Given the description of an element on the screen output the (x, y) to click on. 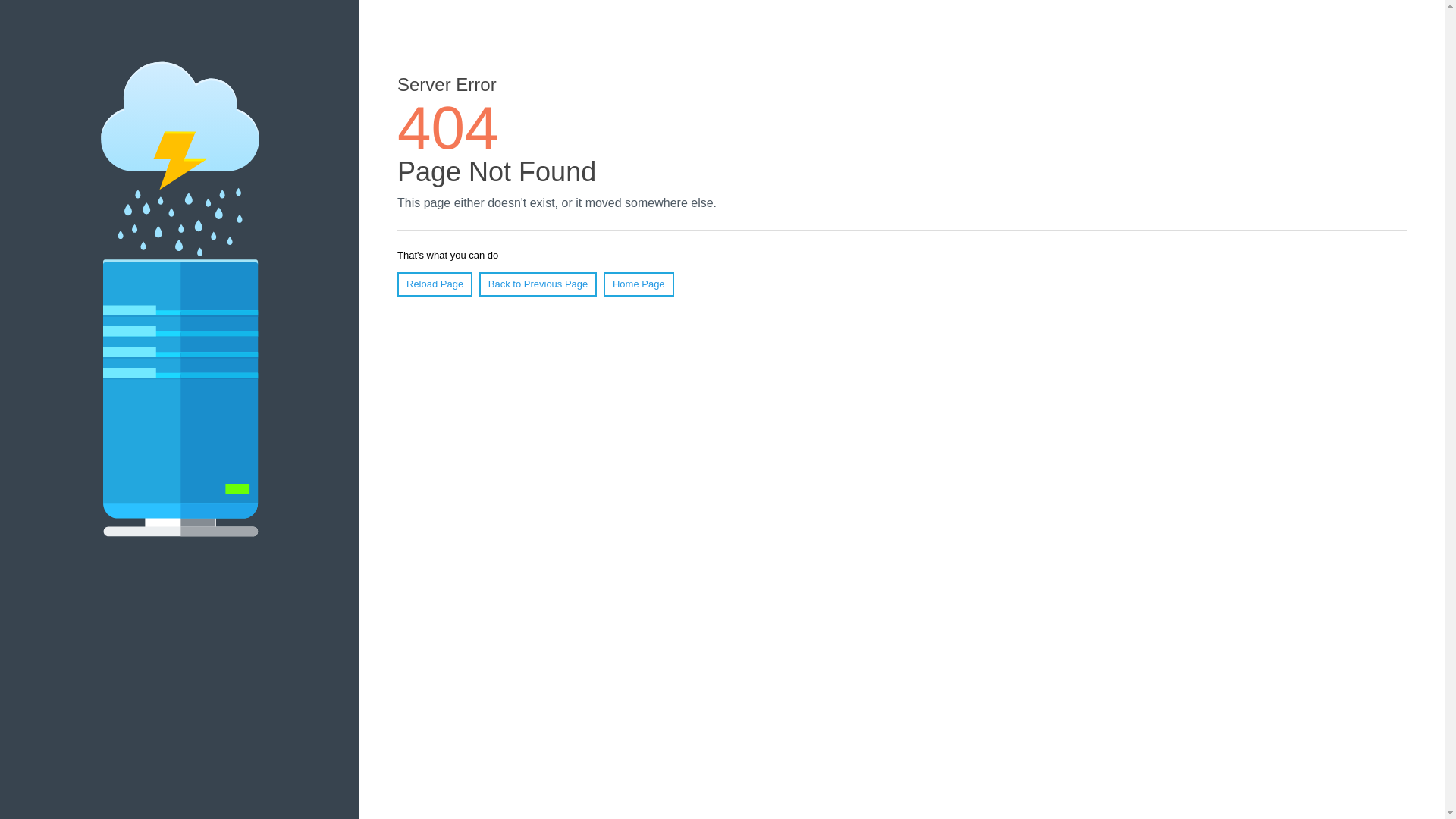
Home Page Element type: text (638, 284)
Reload Page Element type: text (434, 284)
Back to Previous Page Element type: text (538, 284)
